Given the description of an element on the screen output the (x, y) to click on. 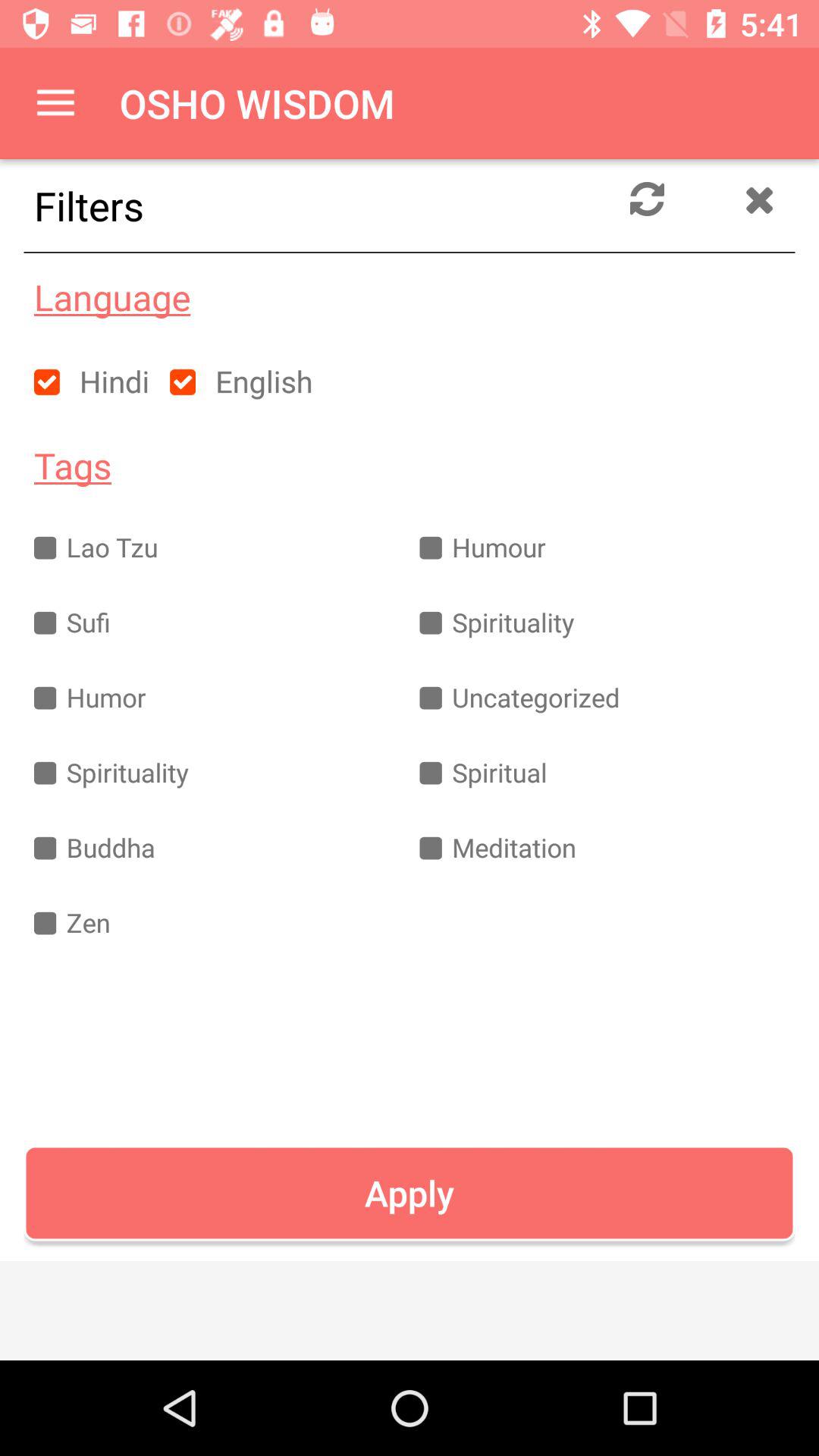
tap item to the left of osho wisdom item (55, 103)
